Given the description of an element on the screen output the (x, y) to click on. 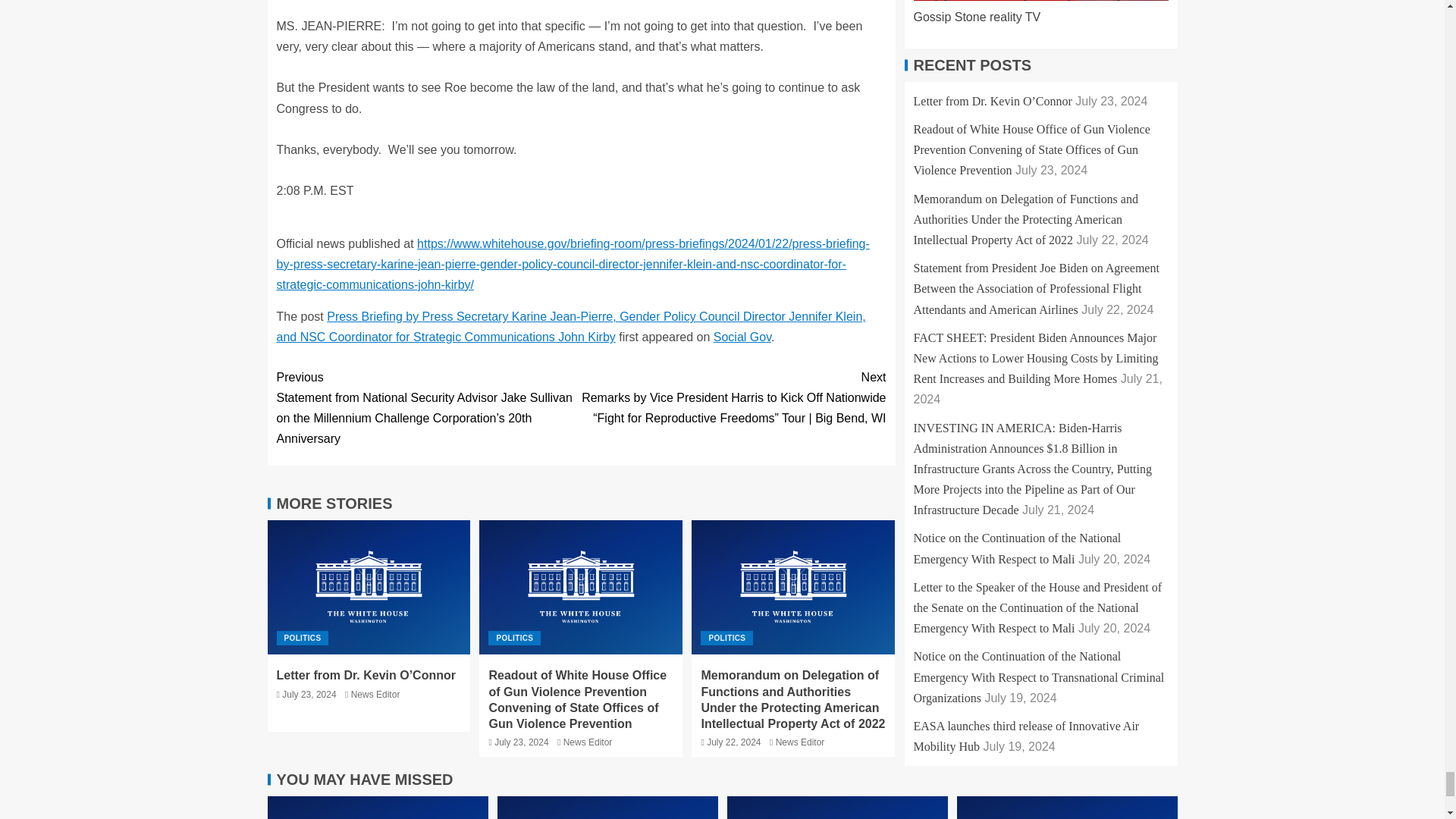
POLITICS (302, 637)
News Editor (800, 742)
News Editor (375, 694)
Social Gov (742, 336)
POLITICS (726, 637)
POLITICS (513, 637)
News Editor (587, 742)
